Given the description of an element on the screen output the (x, y) to click on. 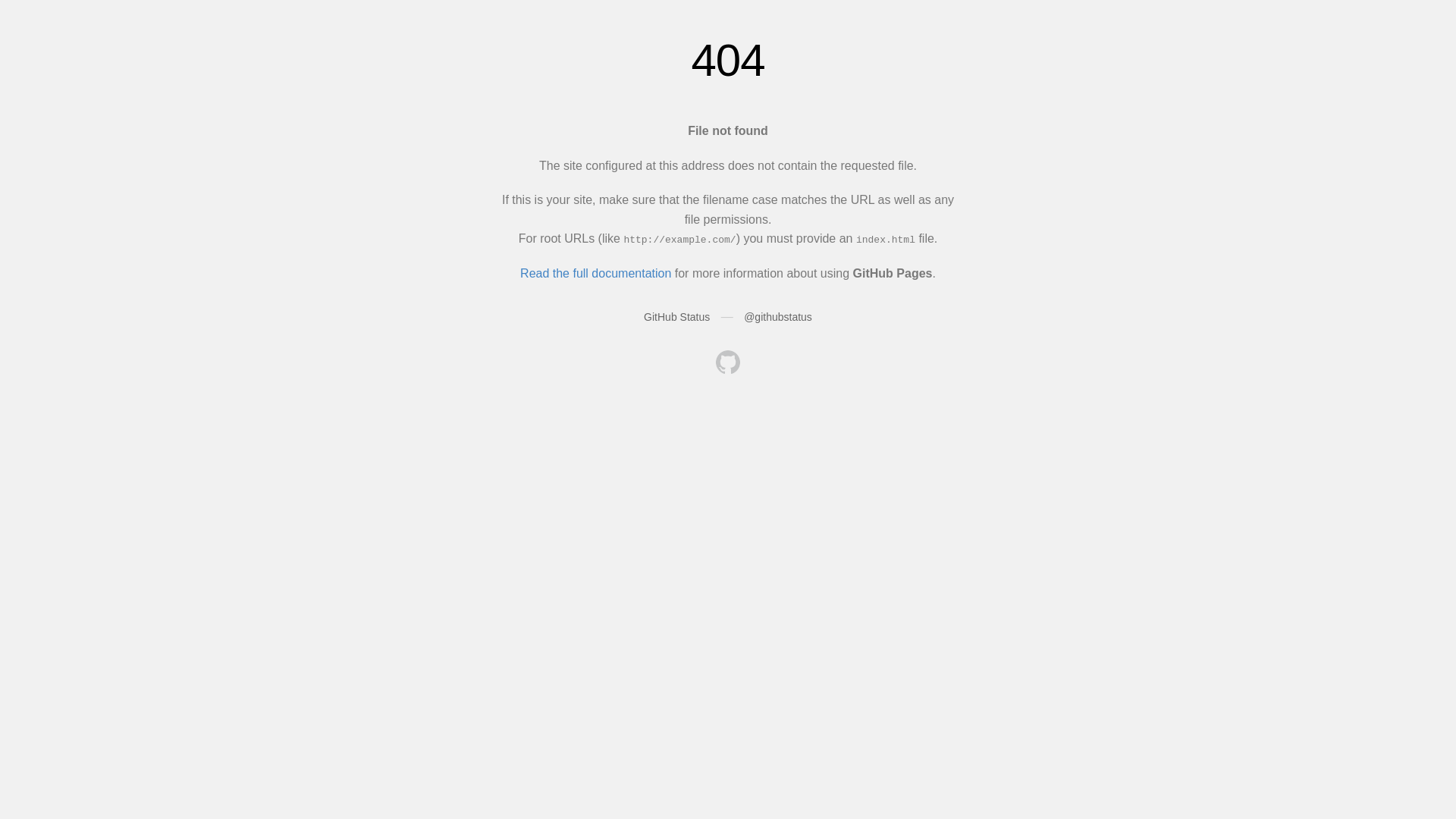
GitHub Status Element type: text (676, 316)
Read the full documentation Element type: text (595, 272)
@githubstatus Element type: text (777, 316)
